Given the description of an element on the screen output the (x, y) to click on. 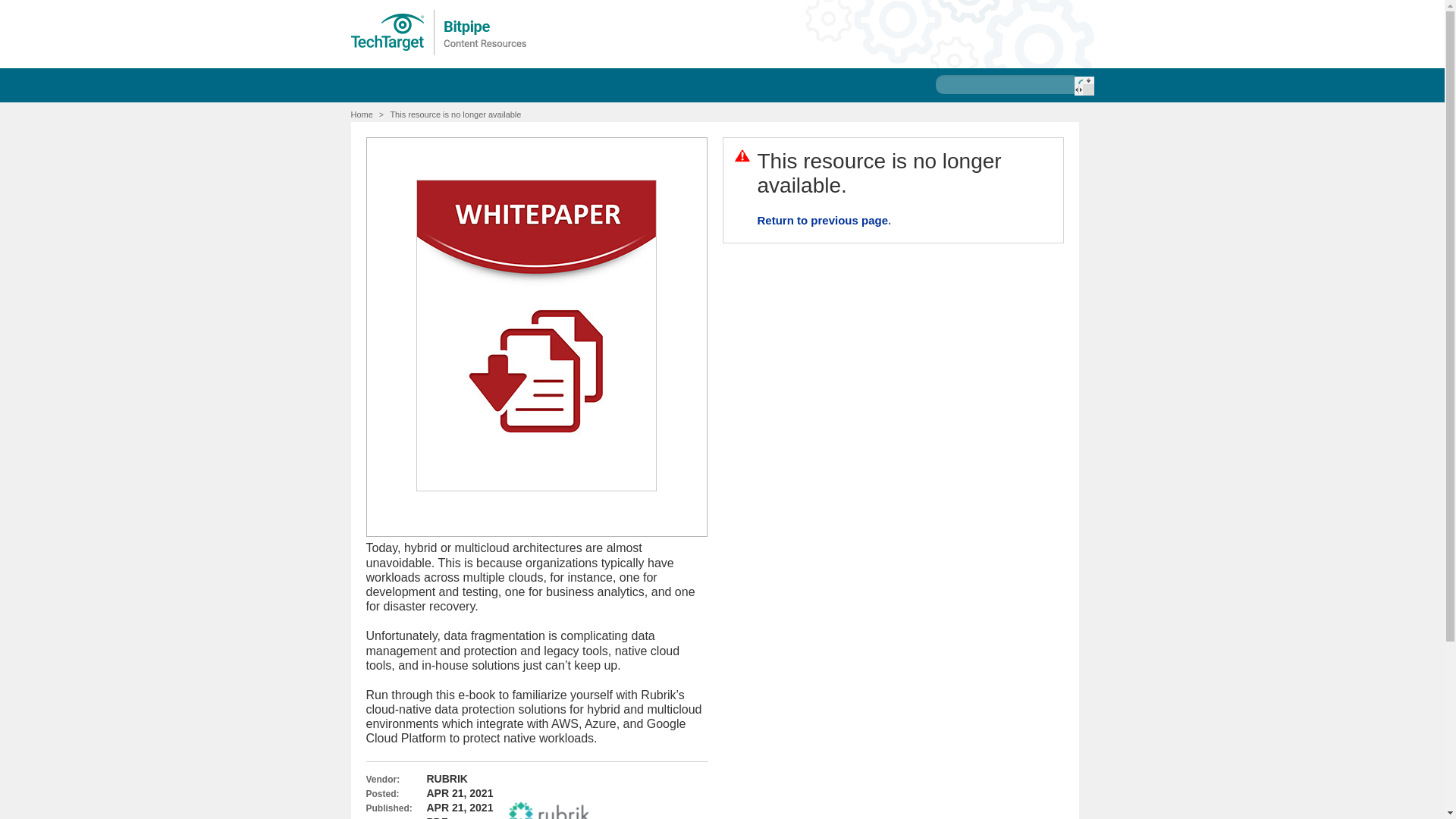
Return to previous page (822, 219)
Search (1083, 85)
Bitpipe (439, 32)
Home (361, 113)
Search (1083, 85)
